Given the description of an element on the screen output the (x, y) to click on. 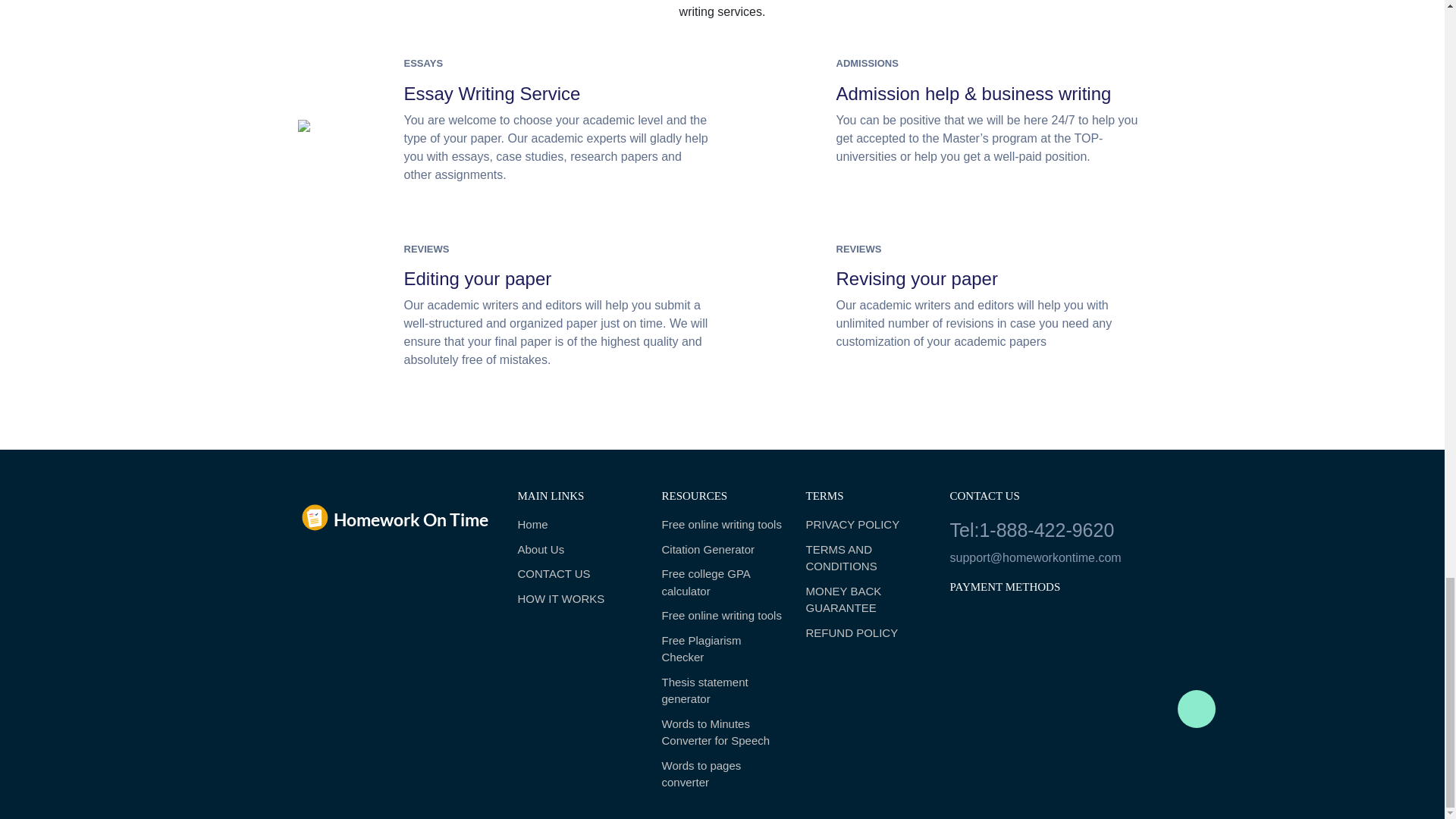
Citation Generator (722, 549)
Free online writing tools (722, 524)
Free college GPA calculator (722, 582)
Free online writing tools (722, 615)
About Us (577, 549)
Home (577, 524)
REFUND POLICY (865, 633)
HOW IT WORKS (577, 599)
CONTACT US (577, 574)
Thesis statement generator (722, 691)
